Given the description of an element on the screen output the (x, y) to click on. 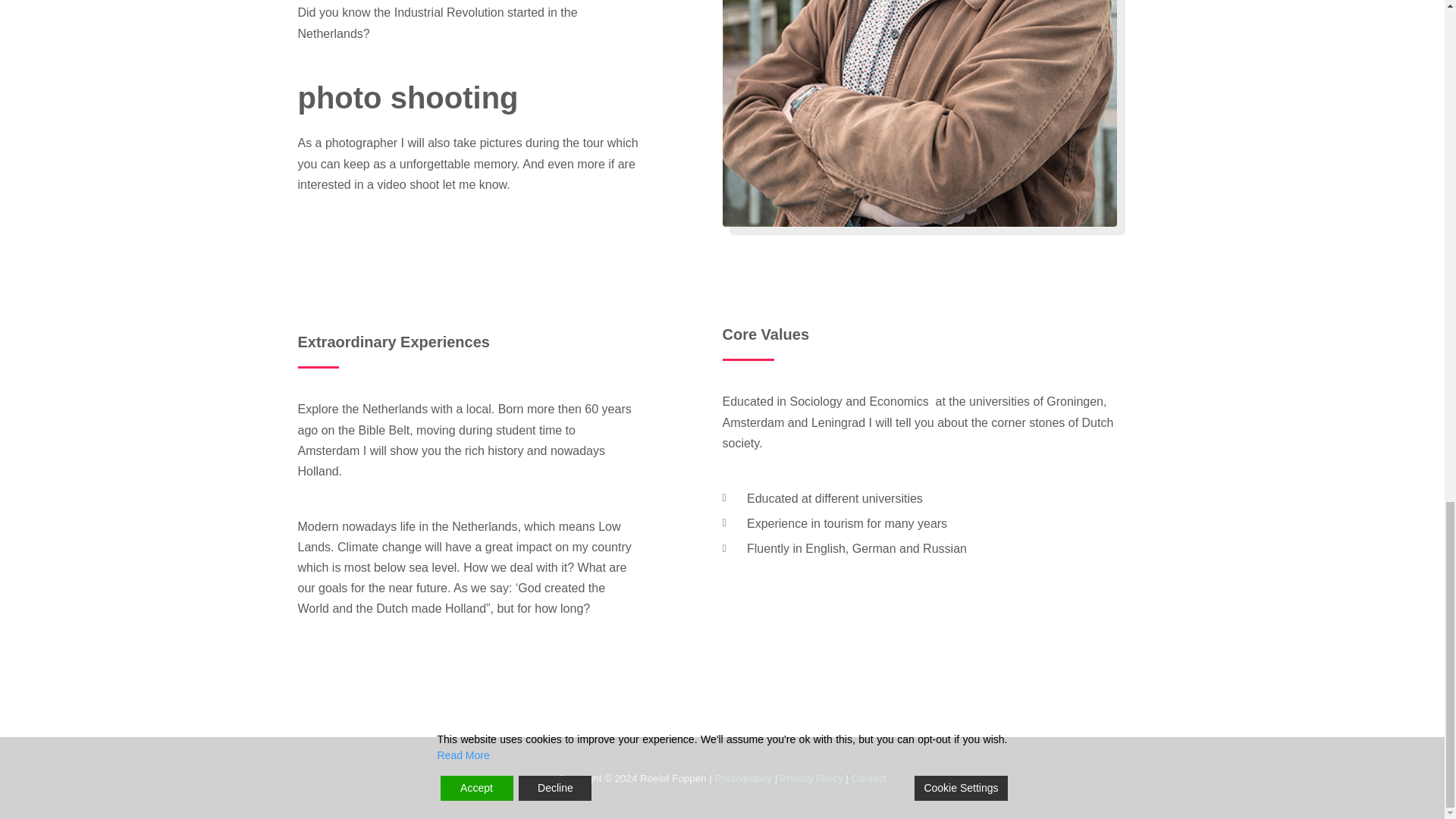
Contact (868, 778)
Photography (742, 778)
Privacy Policy (811, 778)
